Given the description of an element on the screen output the (x, y) to click on. 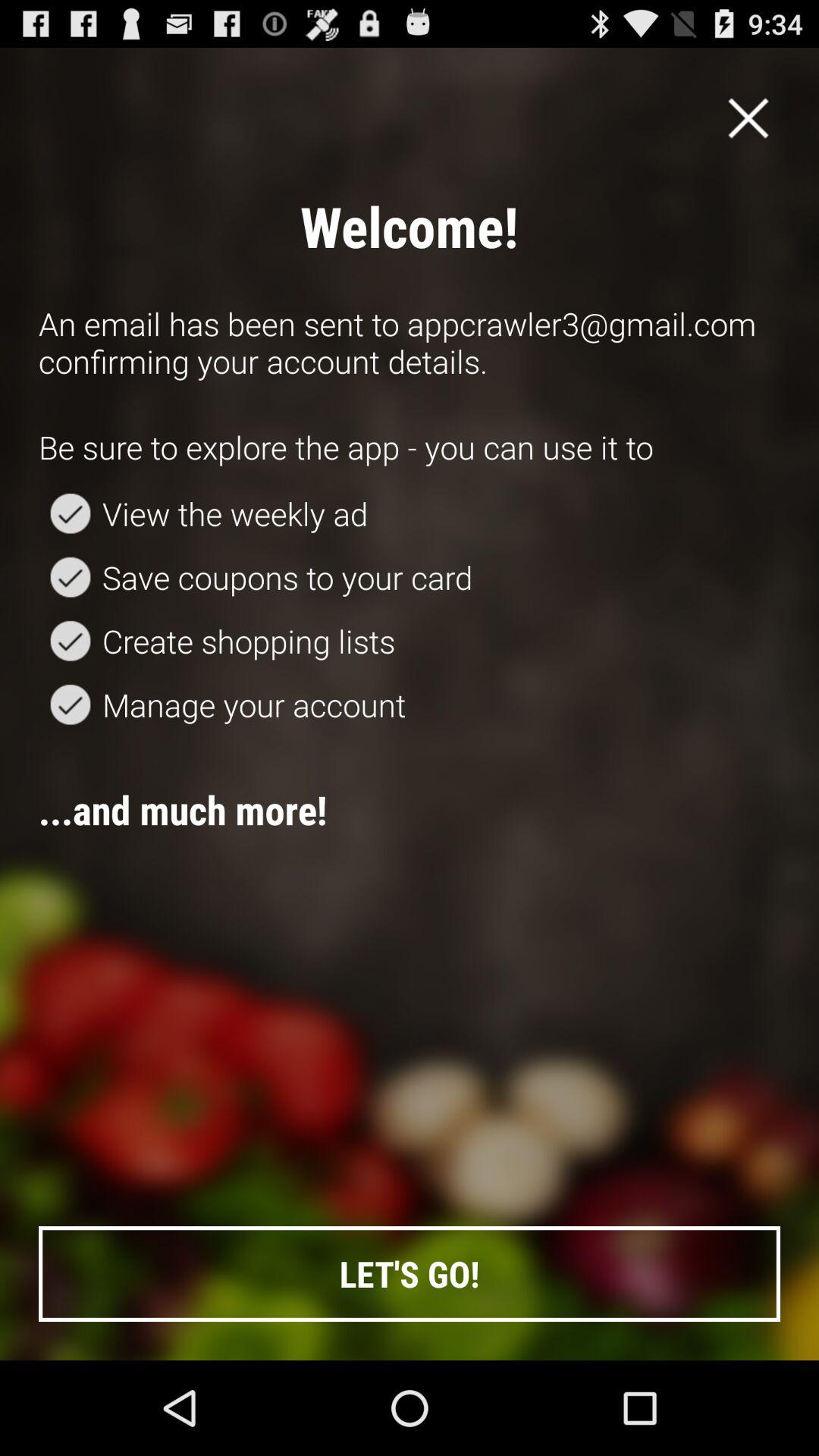
open button at the bottom (409, 1273)
